Given the description of an element on the screen output the (x, y) to click on. 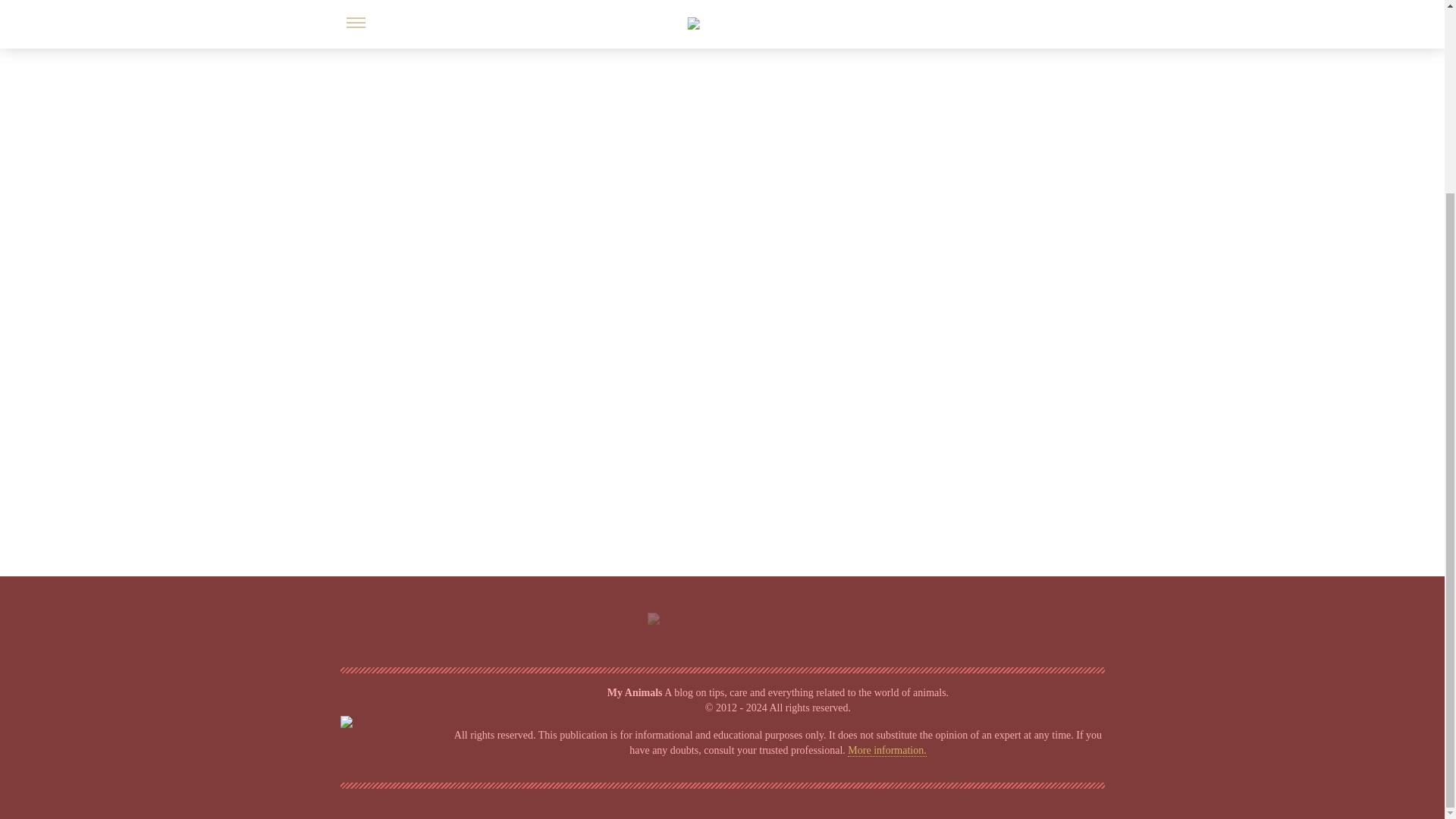
More information. (886, 750)
